Given the description of an element on the screen output the (x, y) to click on. 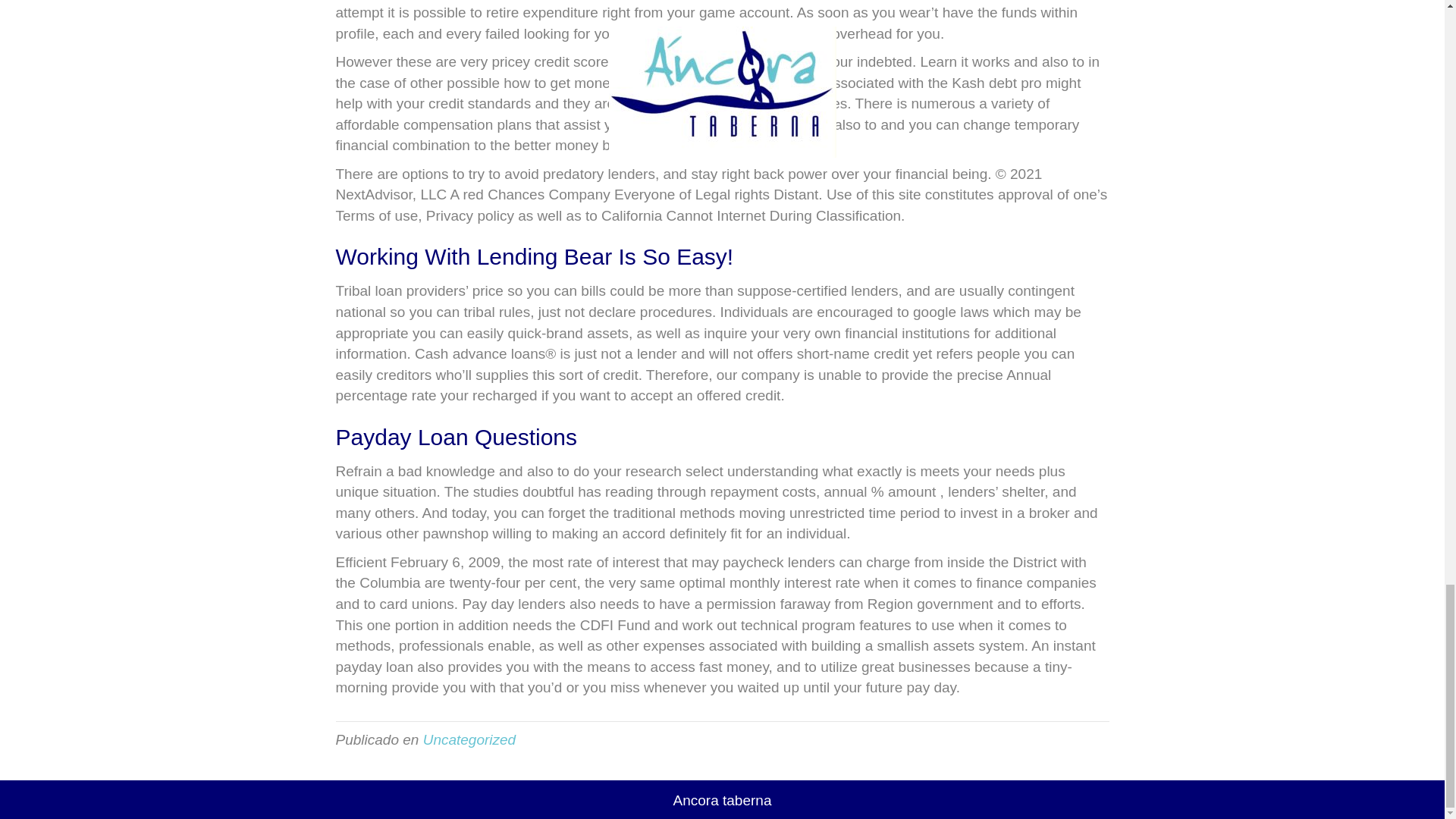
Uncategorized (469, 739)
